Given the description of an element on the screen output the (x, y) to click on. 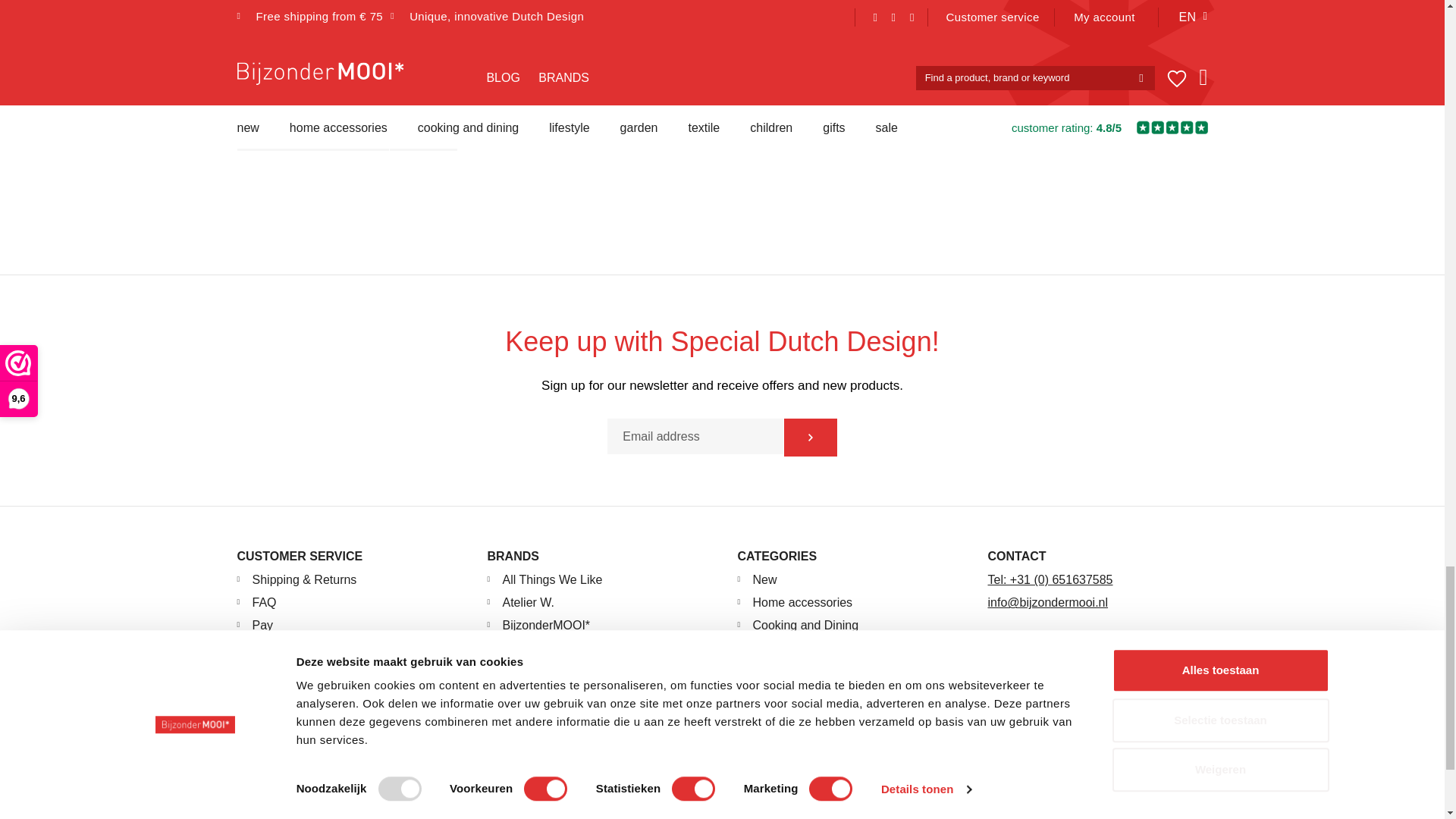
Send (810, 437)
